Given the description of an element on the screen output the (x, y) to click on. 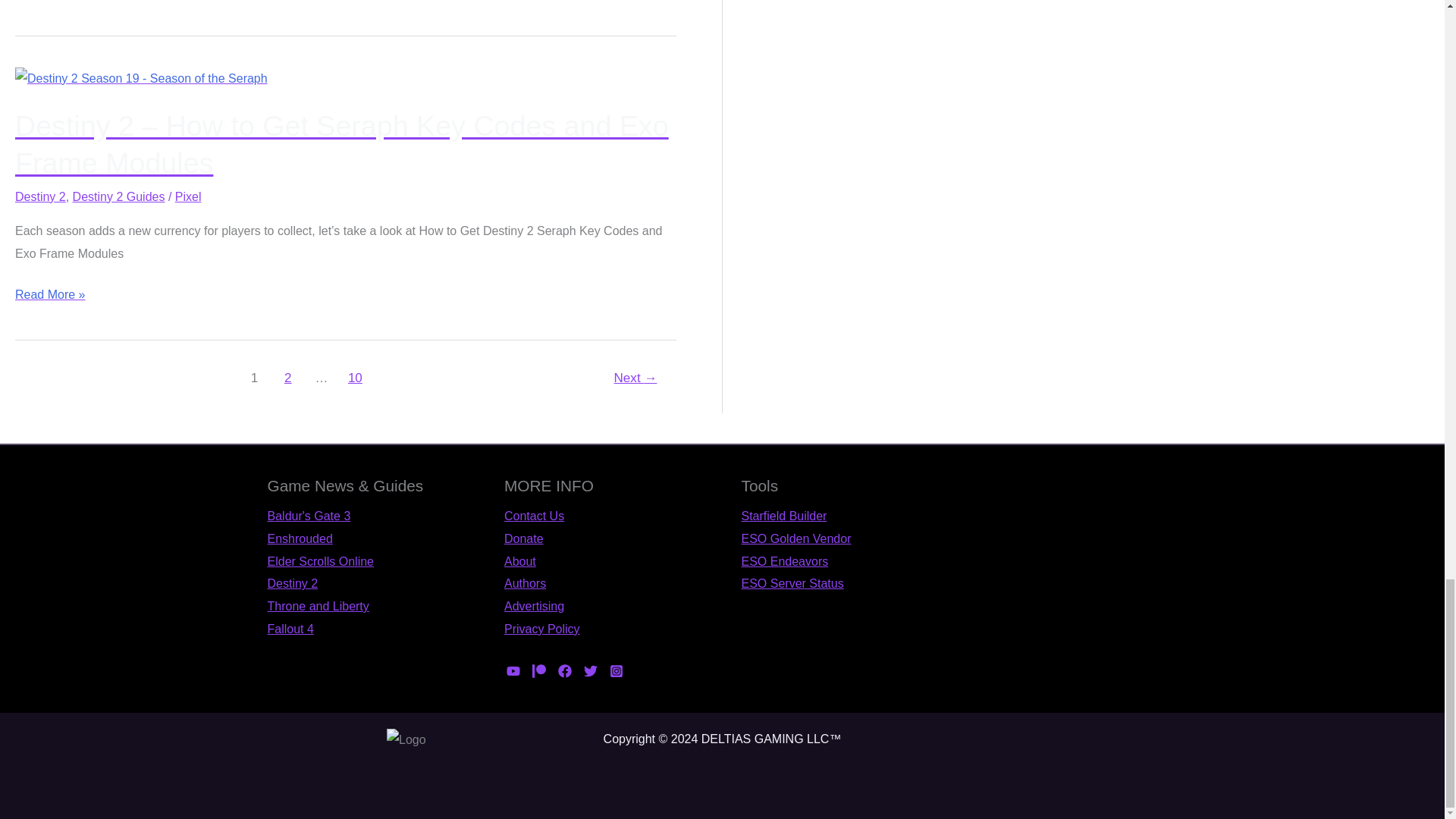
View all posts by Pixel (188, 196)
